Given the description of an element on the screen output the (x, y) to click on. 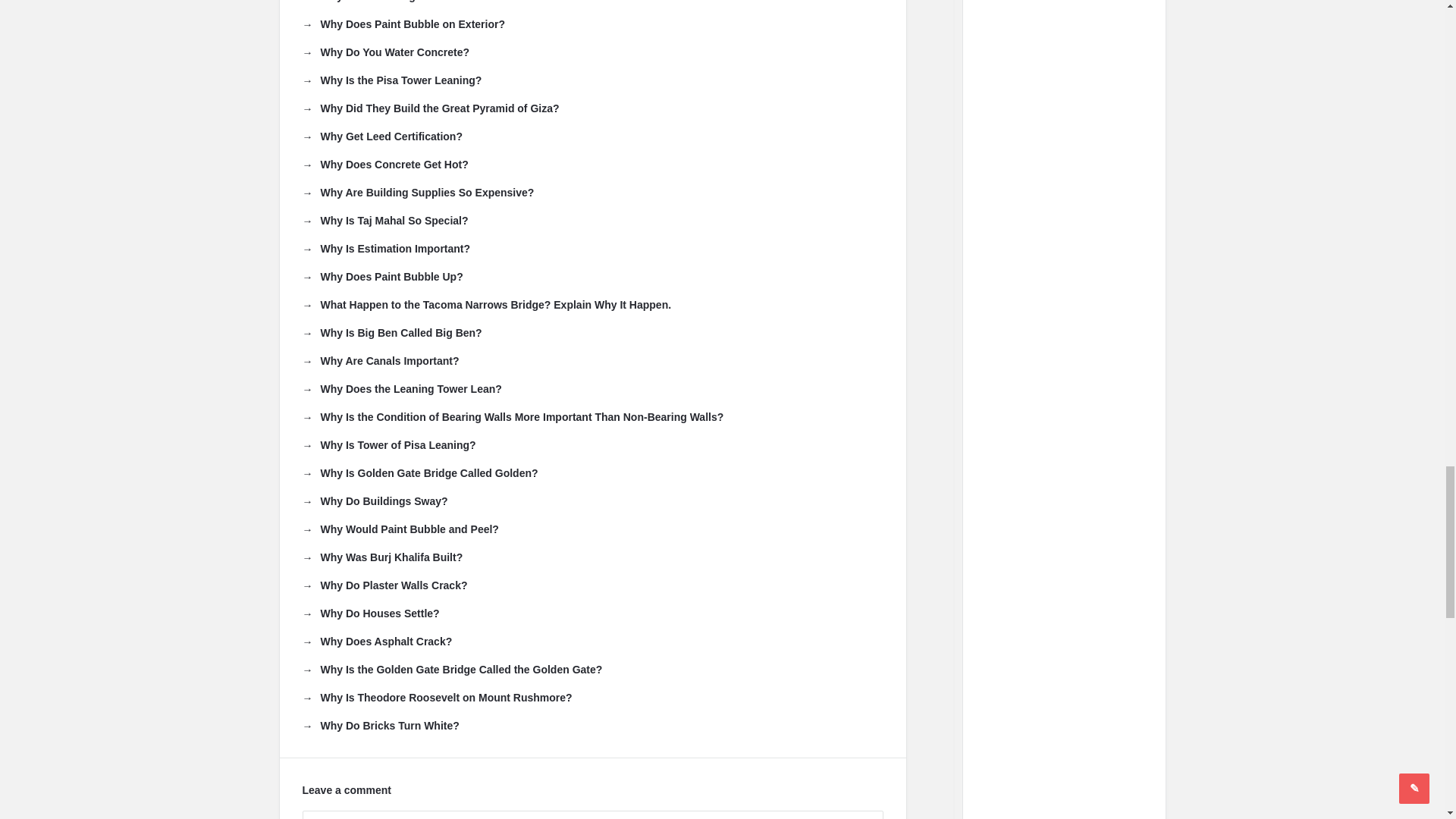
Why Do Houses Settle? (370, 613)
Why Get Leed Certification? (381, 135)
Why Do Plaster Walls Crack? (384, 585)
Why Is the Pisa Tower Leaning? (391, 80)
Why Does Leaning Tower of Pisa Lean? (410, 2)
Why Are Canals Important? (379, 360)
Why Do You Water Concrete? (384, 52)
Why Is Estimation Important? (385, 248)
Why Does the Leaning Tower Lean? (400, 388)
Why Was Burj Khalifa Built? (382, 556)
Why Do You Water Concrete? (384, 52)
Why Did They Build the Great Pyramid of Giza? (430, 108)
Why Does Paint Bubble on Exterior? (402, 23)
